Given the description of an element on the screen output the (x, y) to click on. 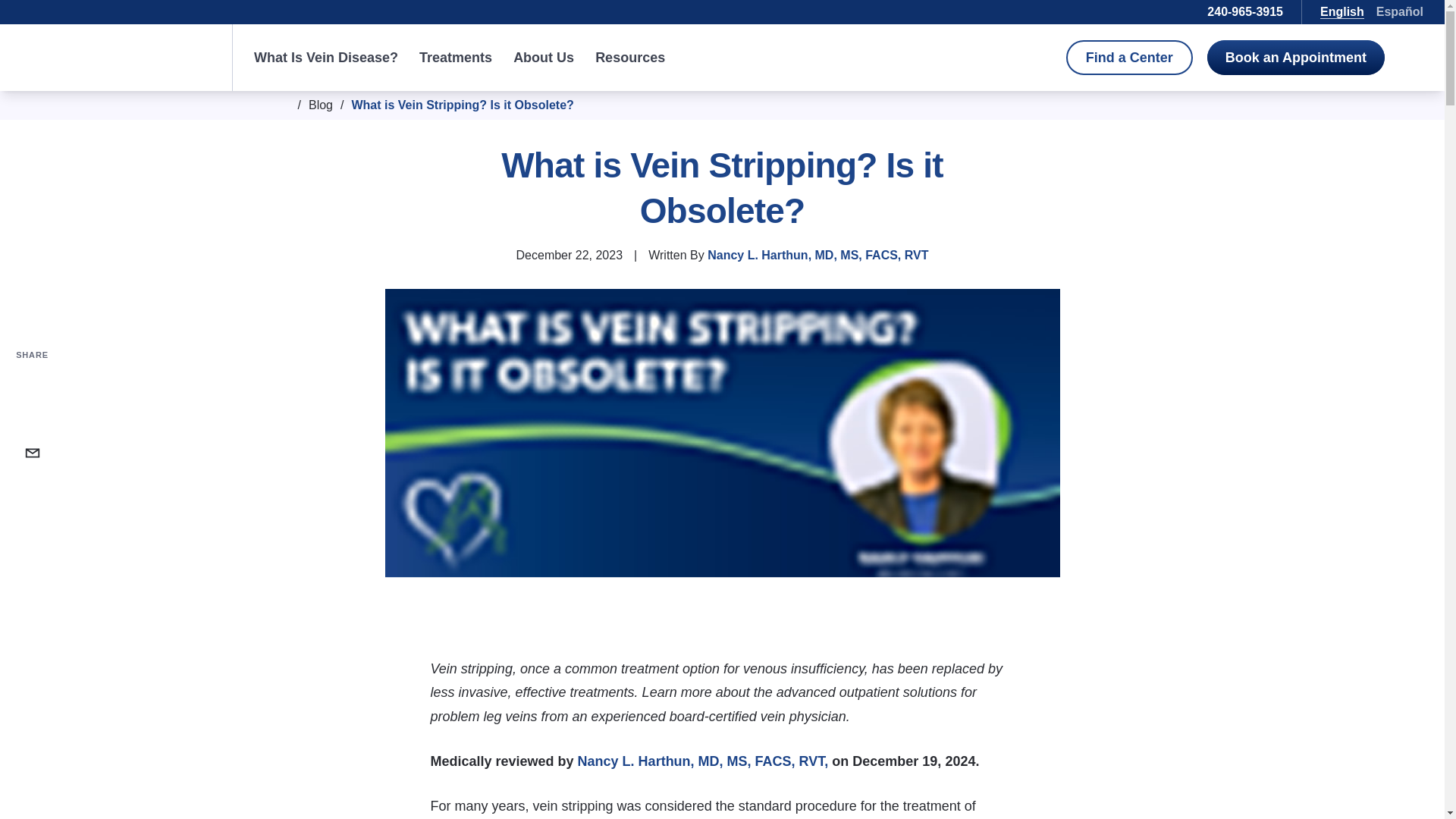
Find a Center (1128, 57)
Book an Appointment (1295, 57)
What Is Vein Disease? (325, 56)
240-965-3915 (1246, 12)
About Us (543, 56)
English (1342, 11)
Treatments (455, 56)
Resources (630, 56)
